Given the description of an element on the screen output the (x, y) to click on. 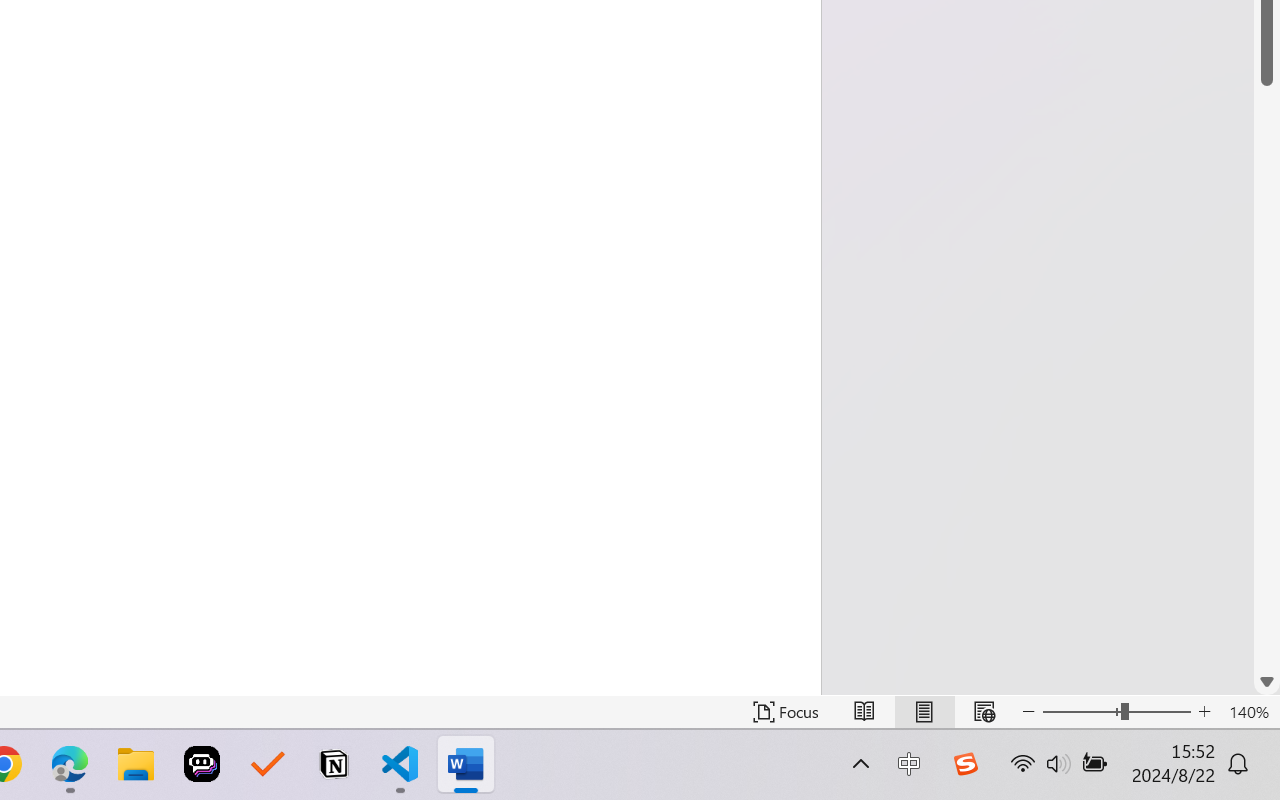
Zoom 100% (1234, 743)
